Given the description of an element on the screen output the (x, y) to click on. 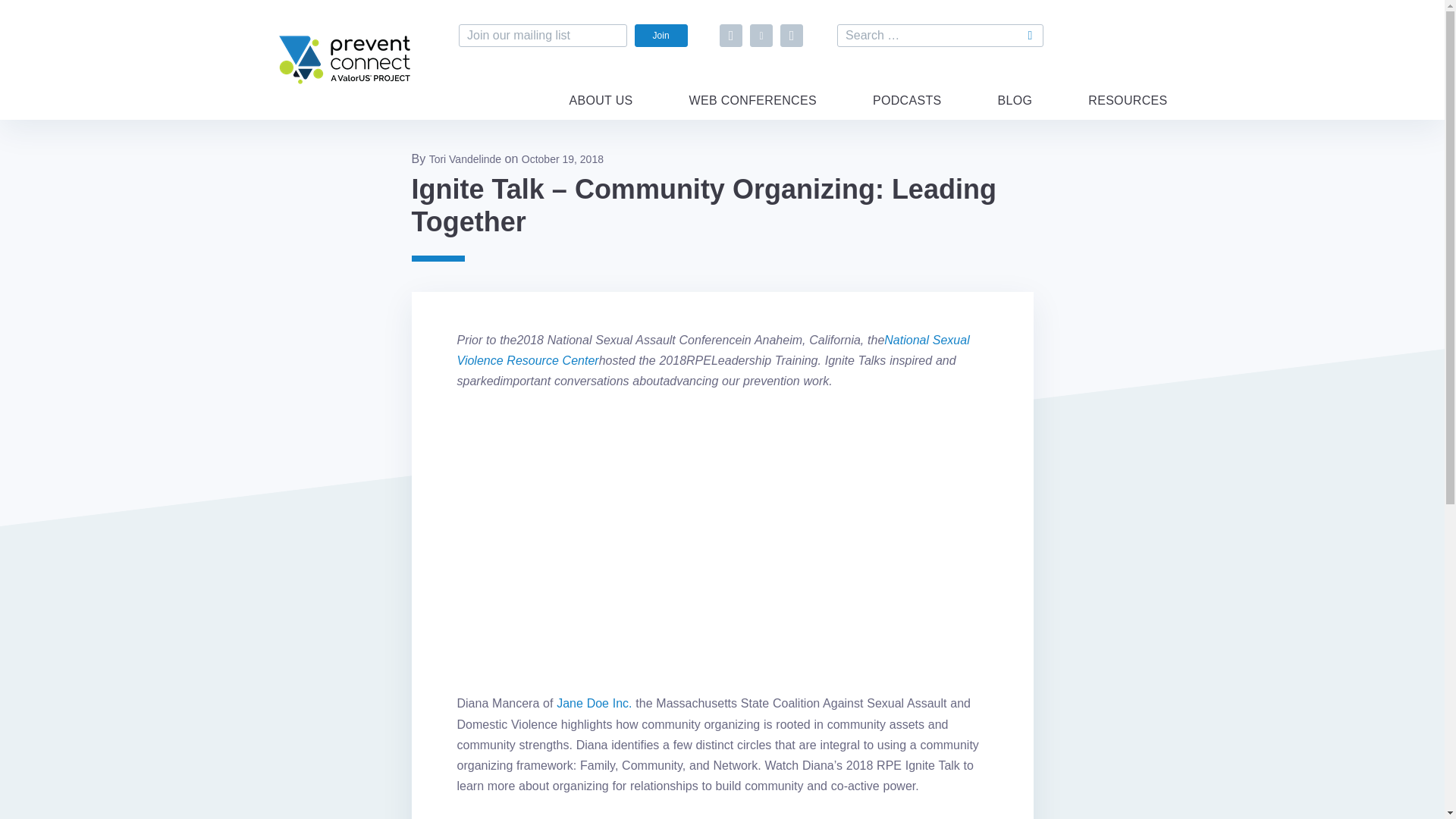
Join (660, 35)
Search (1031, 35)
Posts by Tori Vandelinde (464, 159)
BLOG (1015, 108)
Twitter (761, 35)
RESOURCES (1127, 108)
Join (660, 35)
PreventConnect.org (344, 83)
National Sexual Violence Resource Center (713, 349)
October 19, 2018 (562, 159)
